Given the description of an element on the screen output the (x, y) to click on. 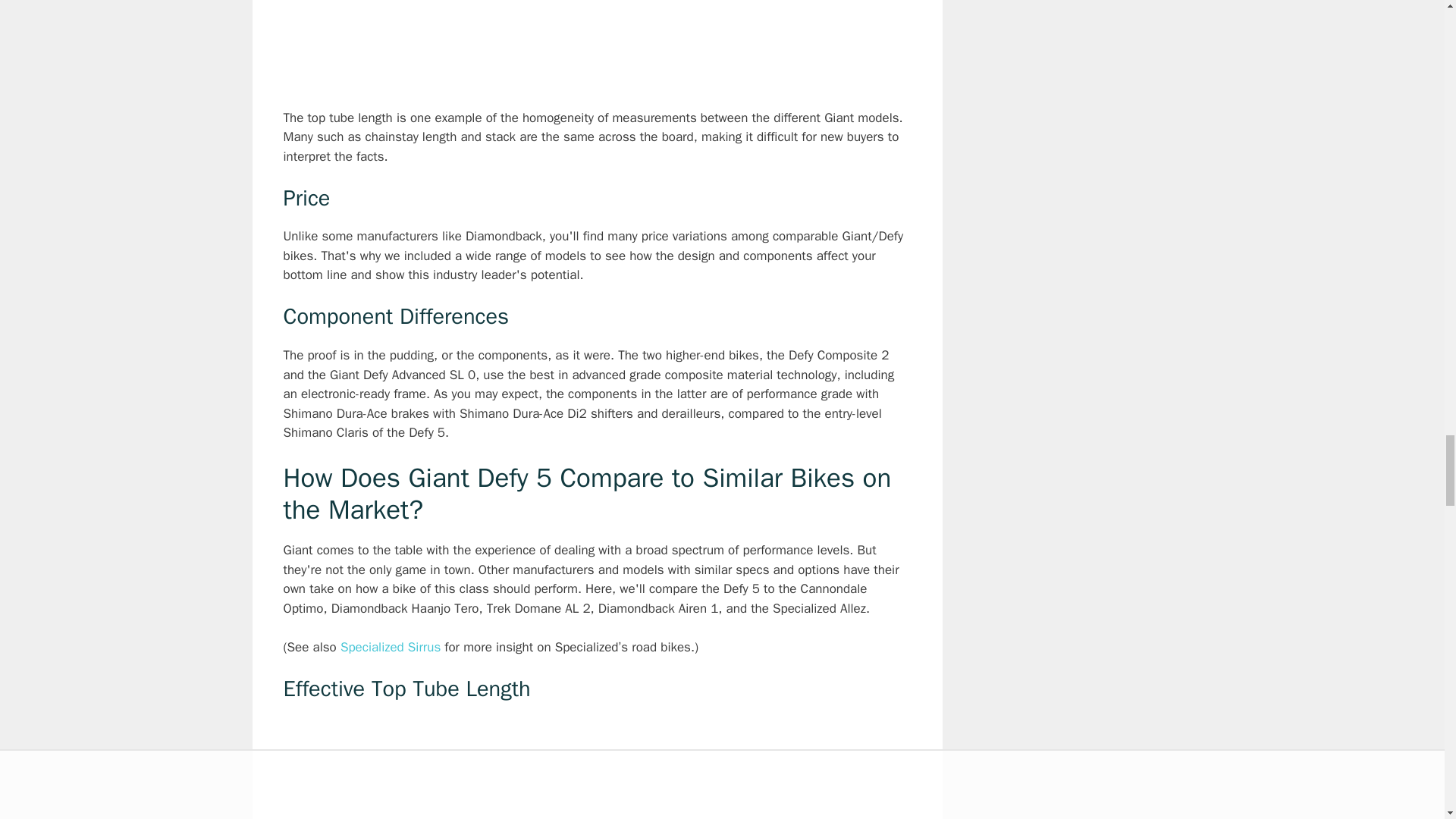
Specialized Sirrus (390, 647)
